Given the description of an element on the screen output the (x, y) to click on. 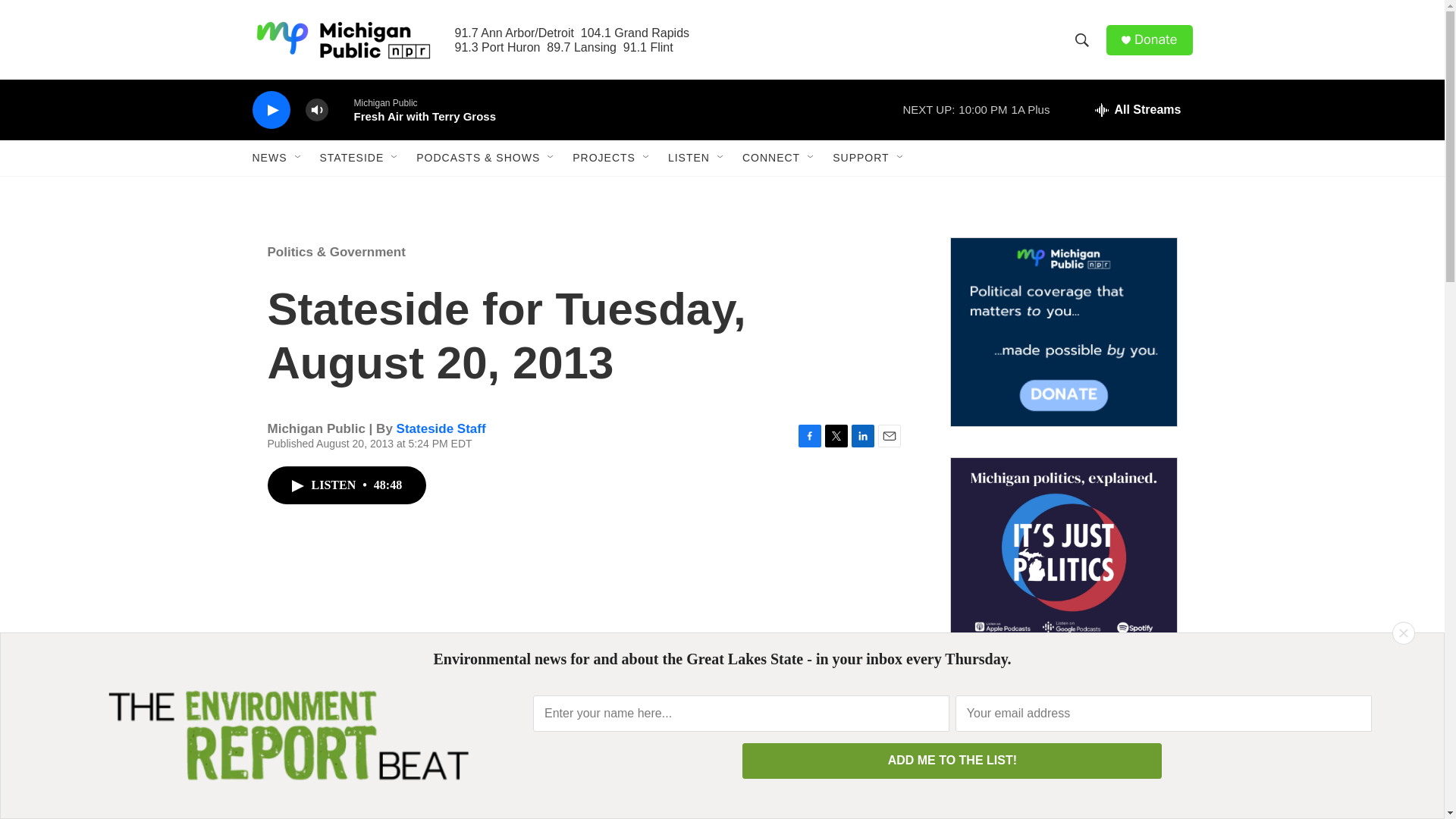
Close (1403, 632)
ADD ME TO THE LIST! (951, 760)
3rd party ad content (1062, 748)
